Given the description of an element on the screen output the (x, y) to click on. 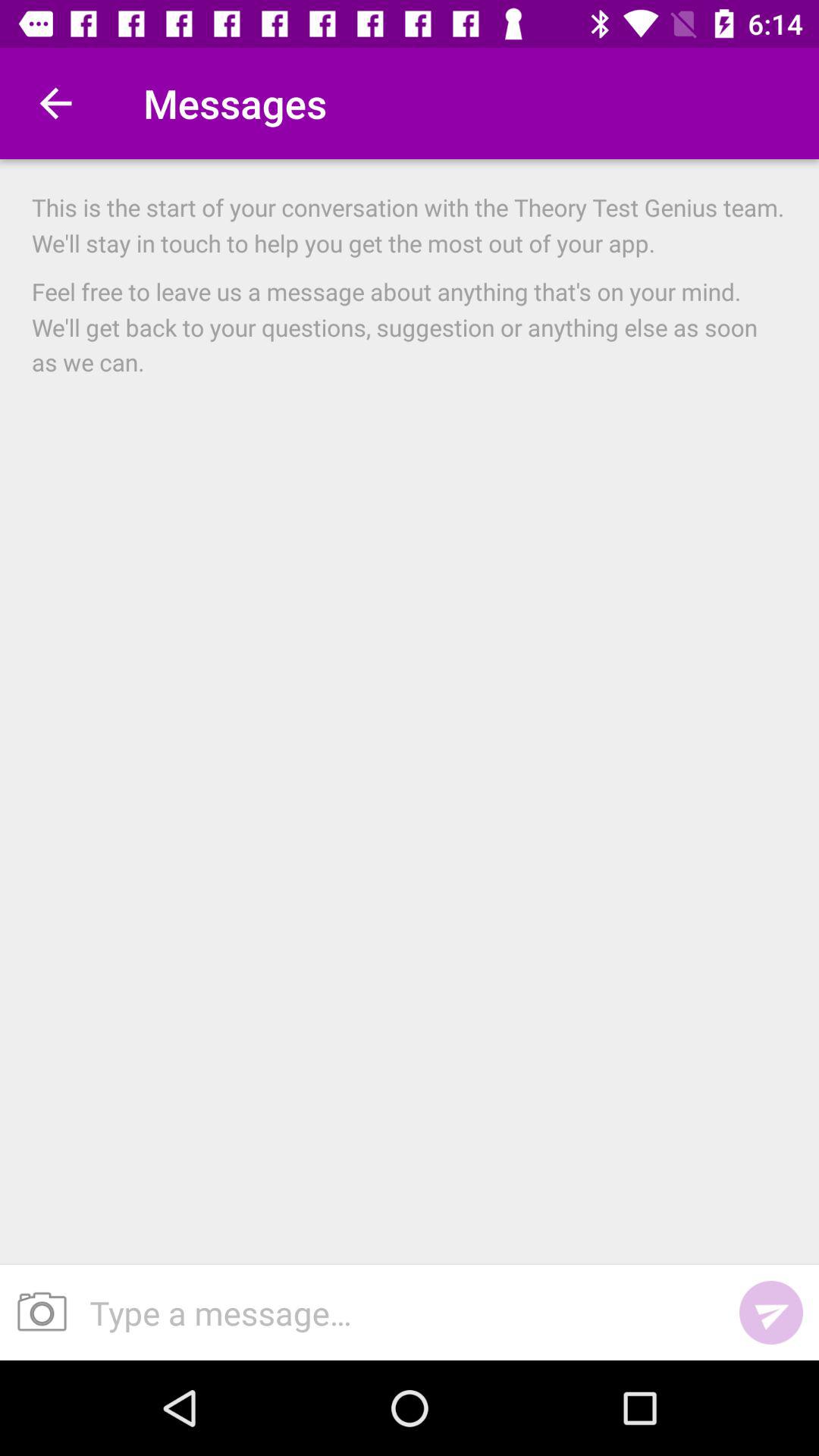
turn off this is the item (409, 225)
